Given the description of an element on the screen output the (x, y) to click on. 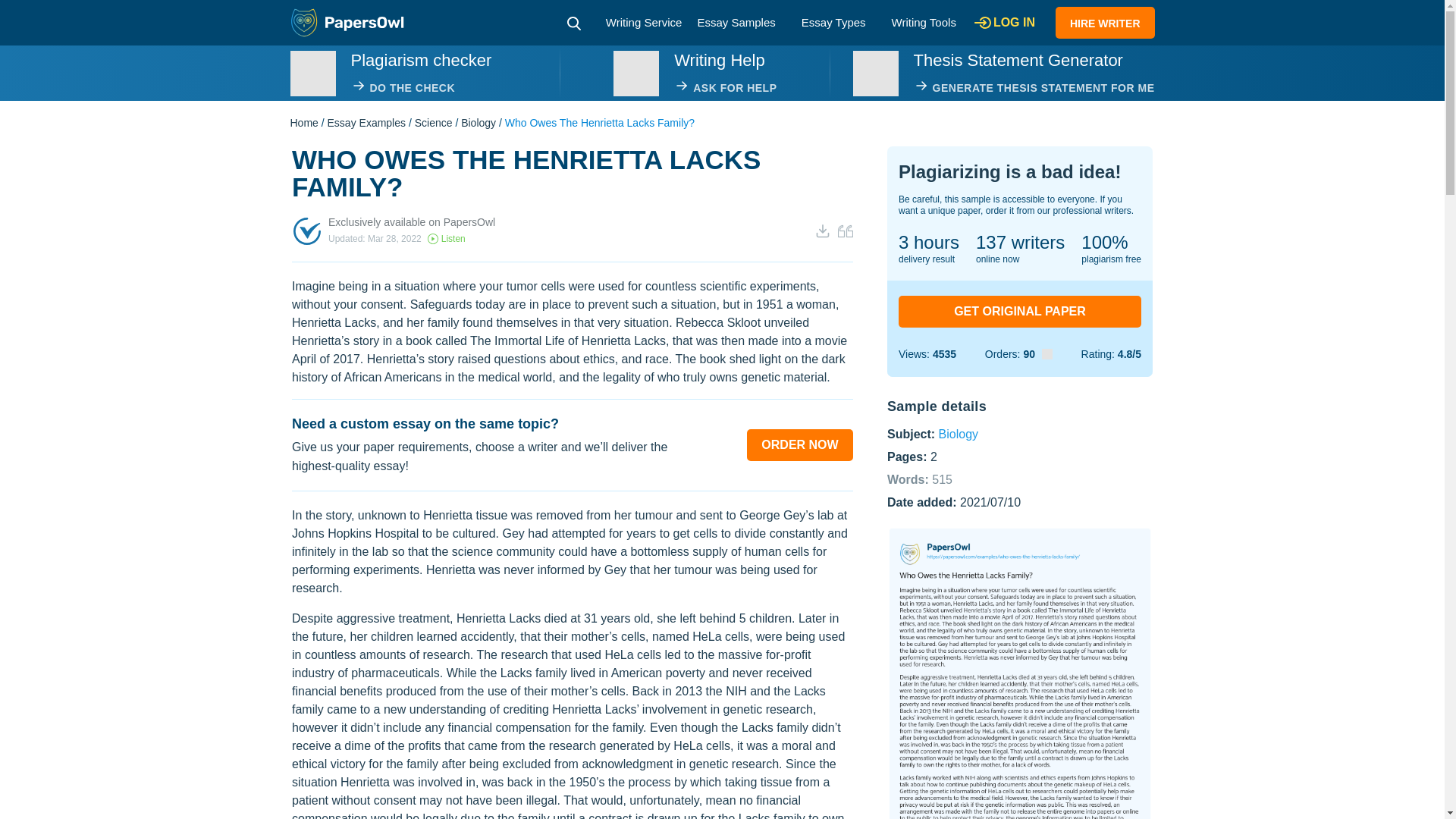
image (311, 72)
image (635, 72)
image (875, 72)
Who Owes the Henrietta Lacks Family? (1019, 672)
Writing Service (643, 21)
